Given the description of an element on the screen output the (x, y) to click on. 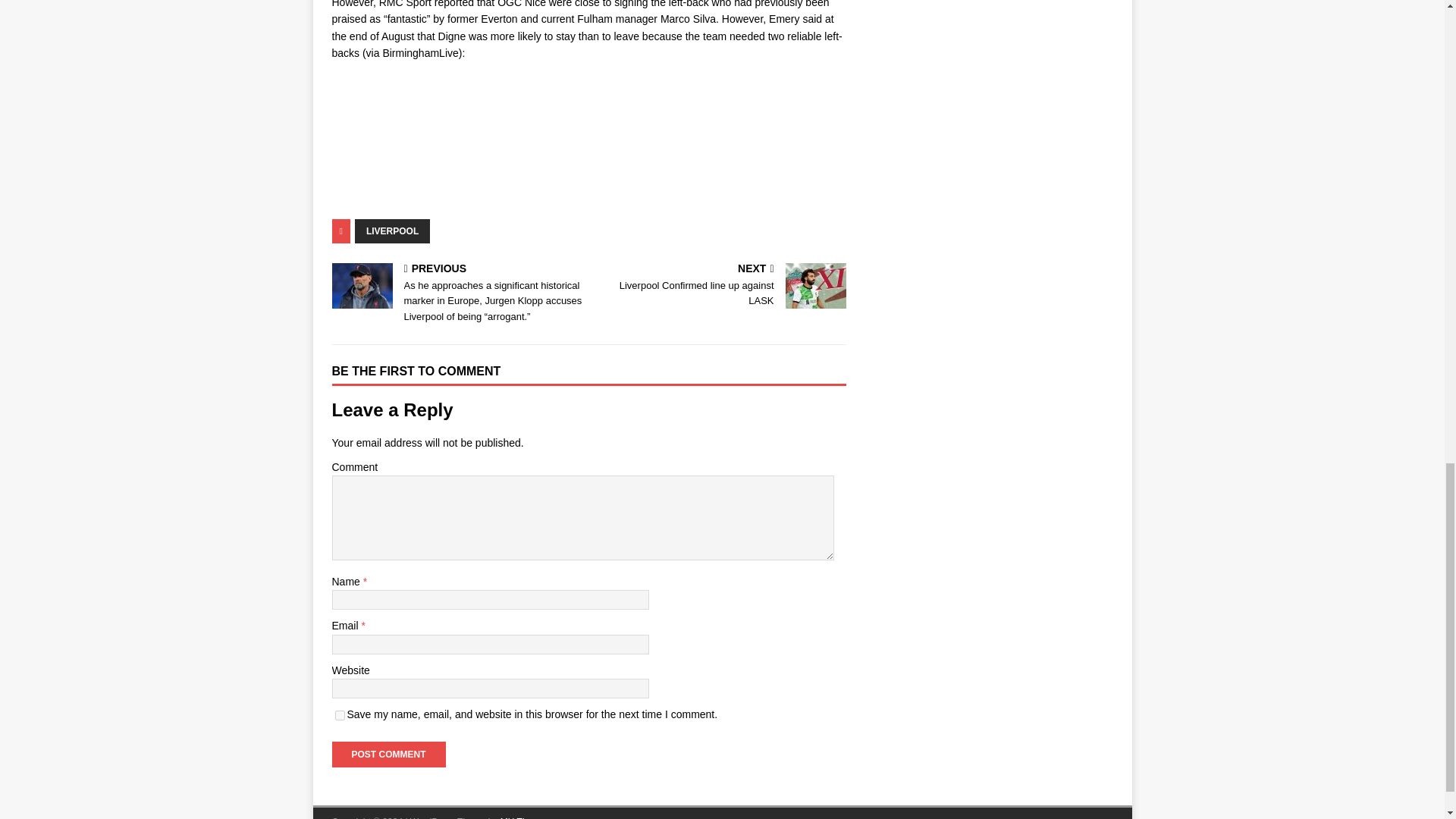
Post Comment (388, 754)
LIVERPOOL (392, 231)
Post Comment (720, 286)
yes (388, 754)
